Given the description of an element on the screen output the (x, y) to click on. 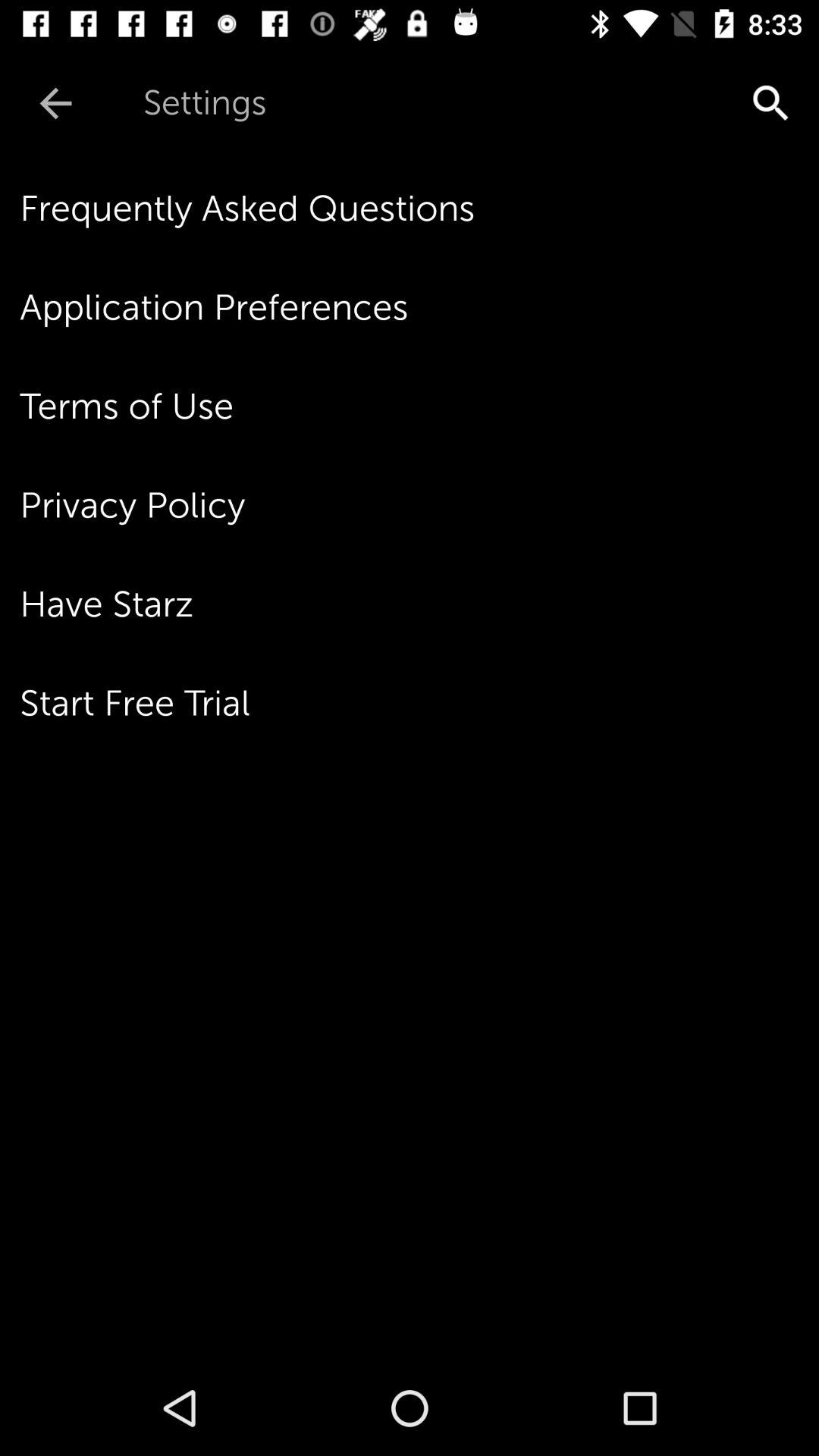
open the frequently asked questions (419, 208)
